Given the description of an element on the screen output the (x, y) to click on. 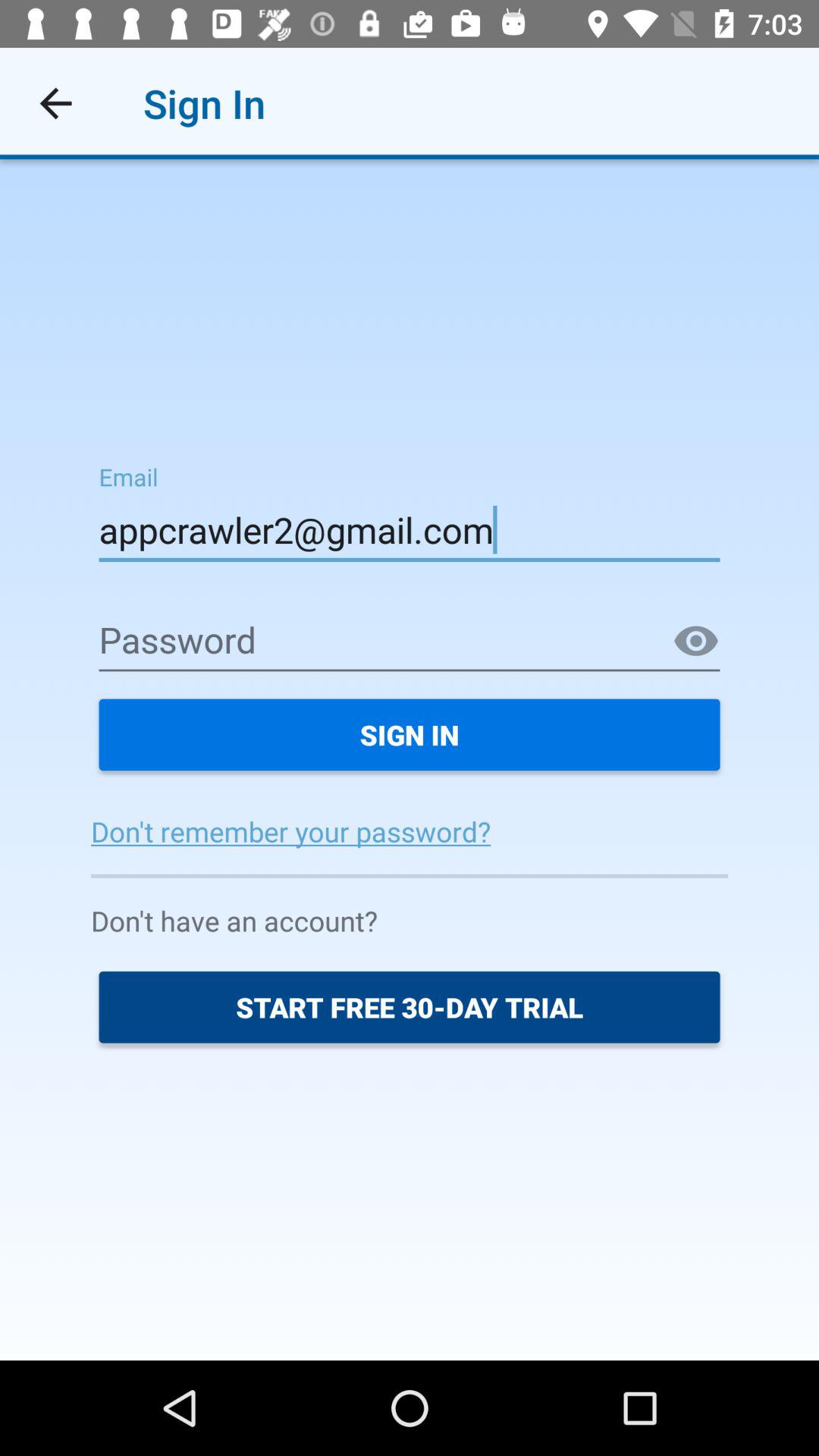
view password button (696, 641)
